Given the description of an element on the screen output the (x, y) to click on. 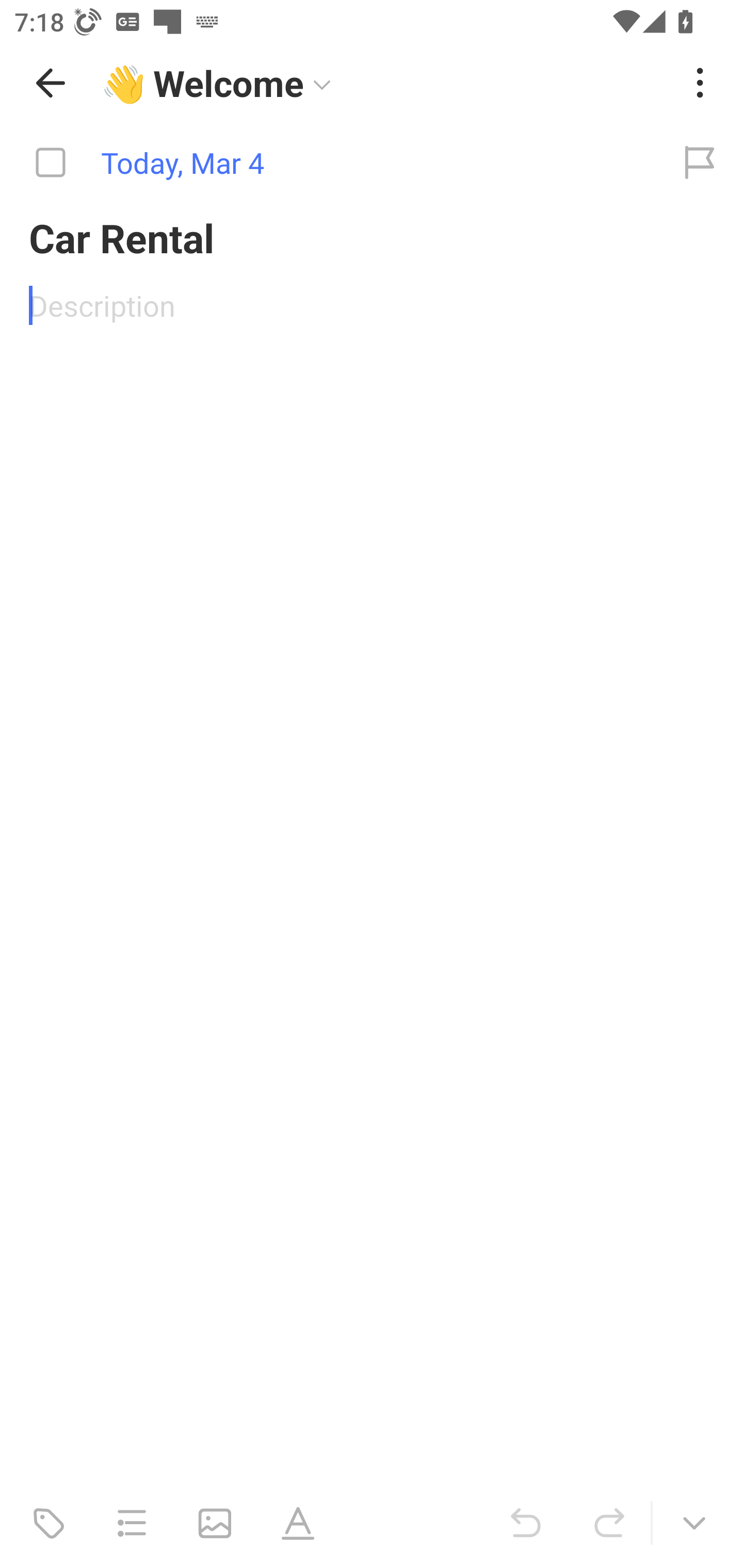
👋 Welcome (384, 82)
Today, Mar 4  (328, 163)
Car Rental (371, 237)
Description (371, 304)
